Given the description of an element on the screen output the (x, y) to click on. 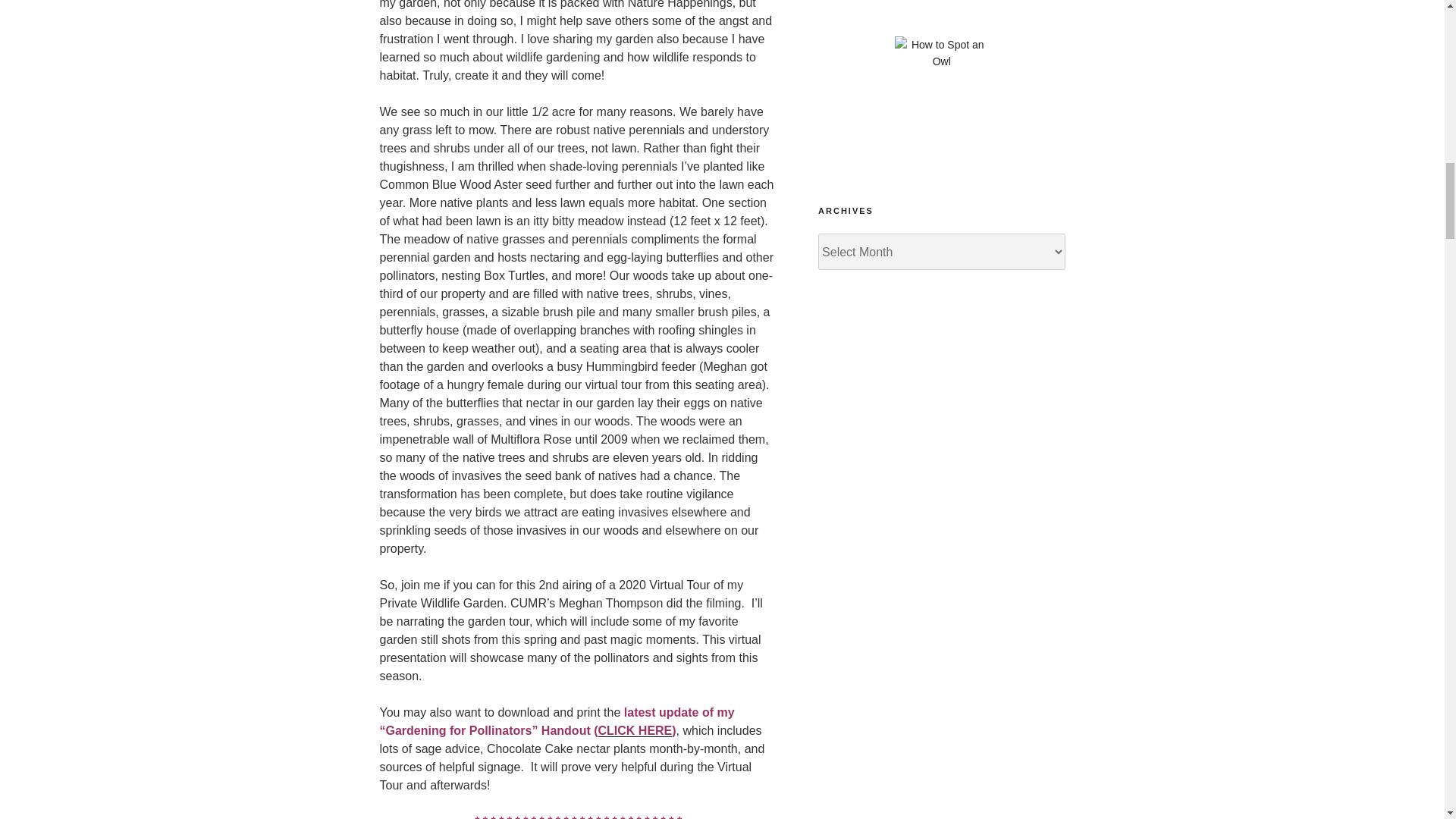
How to Spot Butterflies (941, 10)
